Given the description of an element on the screen output the (x, y) to click on. 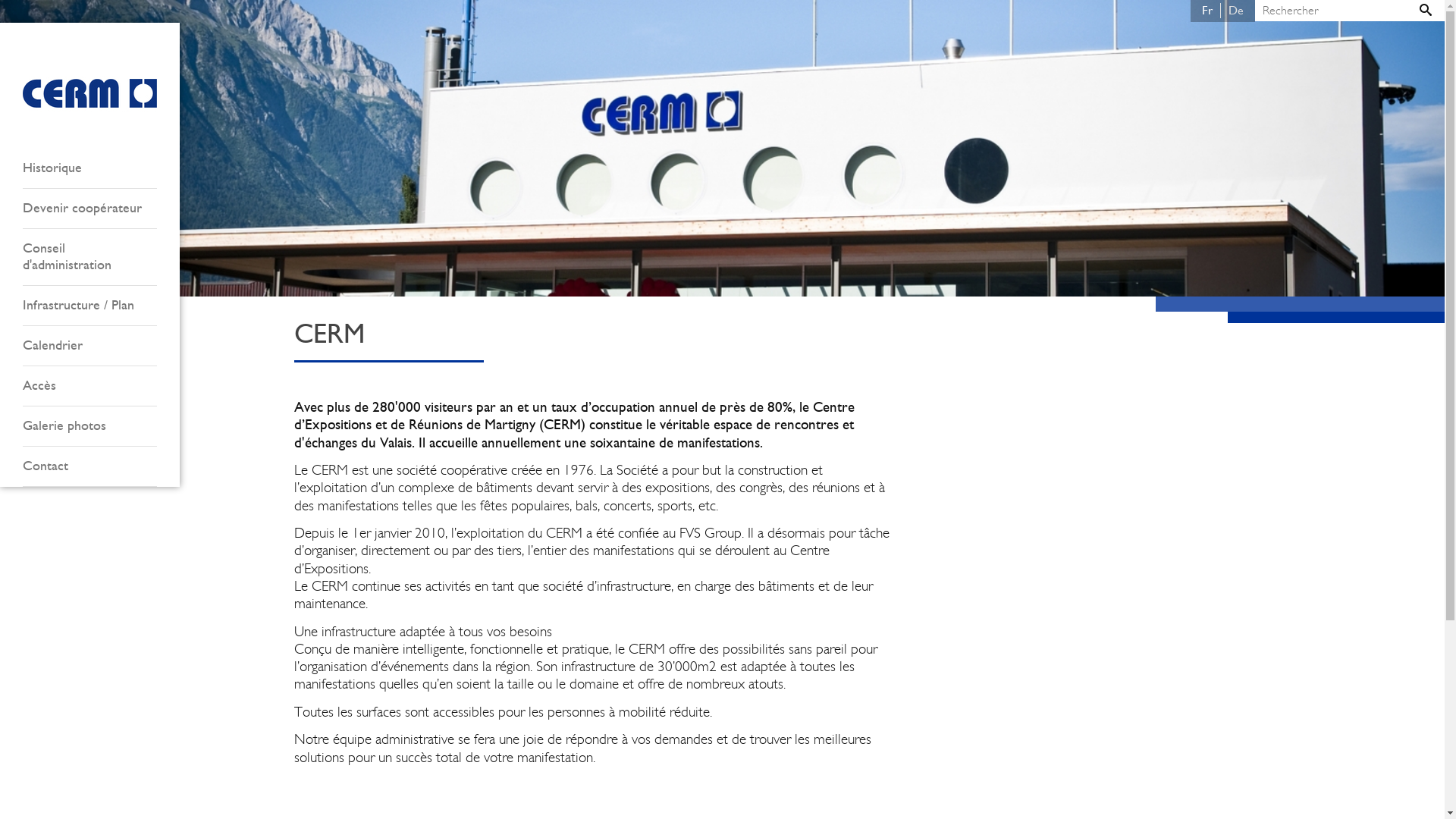
Calendrier Element type: text (89, 346)
Galerie photos Element type: text (89, 426)
De Element type: text (1235, 10)
Historique Element type: text (89, 168)
Conseil d'administration Element type: text (89, 257)
Infrastructure / Plan Element type: text (89, 305)
Fr Element type: text (1207, 10)
Contact Element type: text (89, 466)
